Given the description of an element on the screen output the (x, y) to click on. 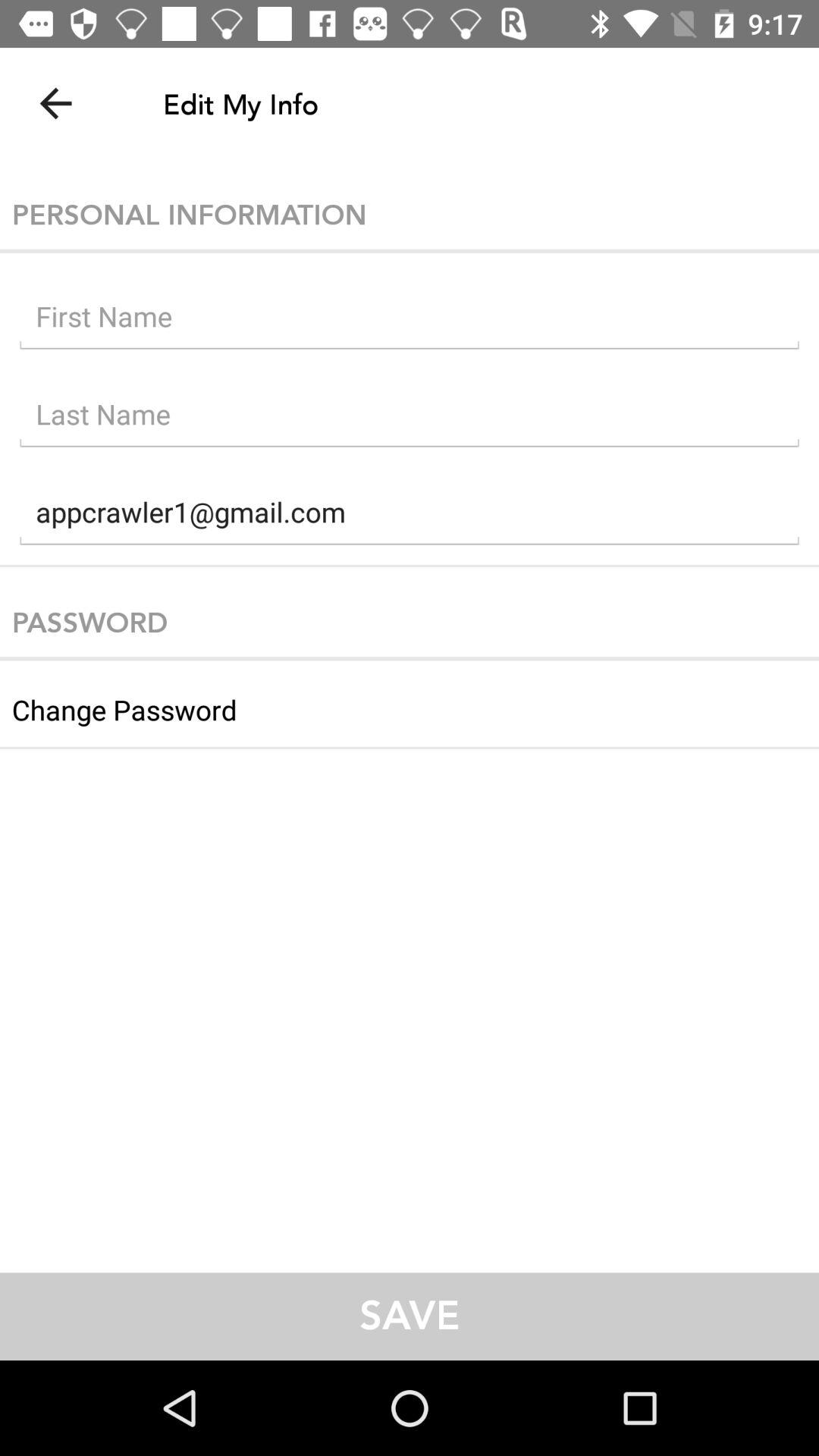
type first name (409, 320)
